Given the description of an element on the screen output the (x, y) to click on. 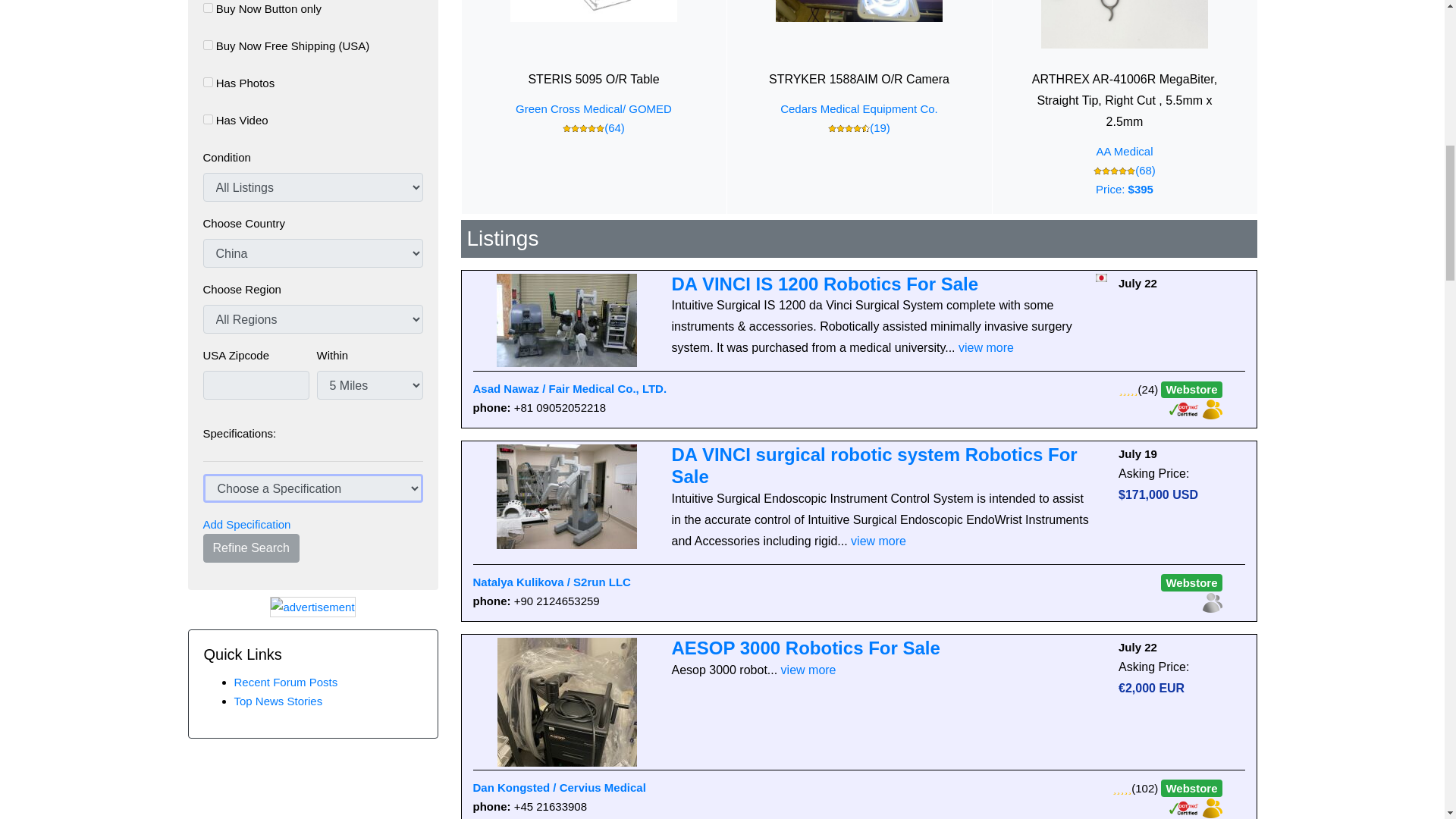
1 (207, 8)
Visit My Virtual Trade Show Booth (1212, 807)
Visit My Virtual Trade Show Booth (1212, 408)
1 (207, 119)
1 (207, 44)
This User is DOTmed Certified (1185, 408)
Visit My Virtual Trade Show Booth (1212, 601)
1 (207, 81)
Refine Search (251, 547)
This User is DOTmed Certified (1185, 807)
